Given the description of an element on the screen output the (x, y) to click on. 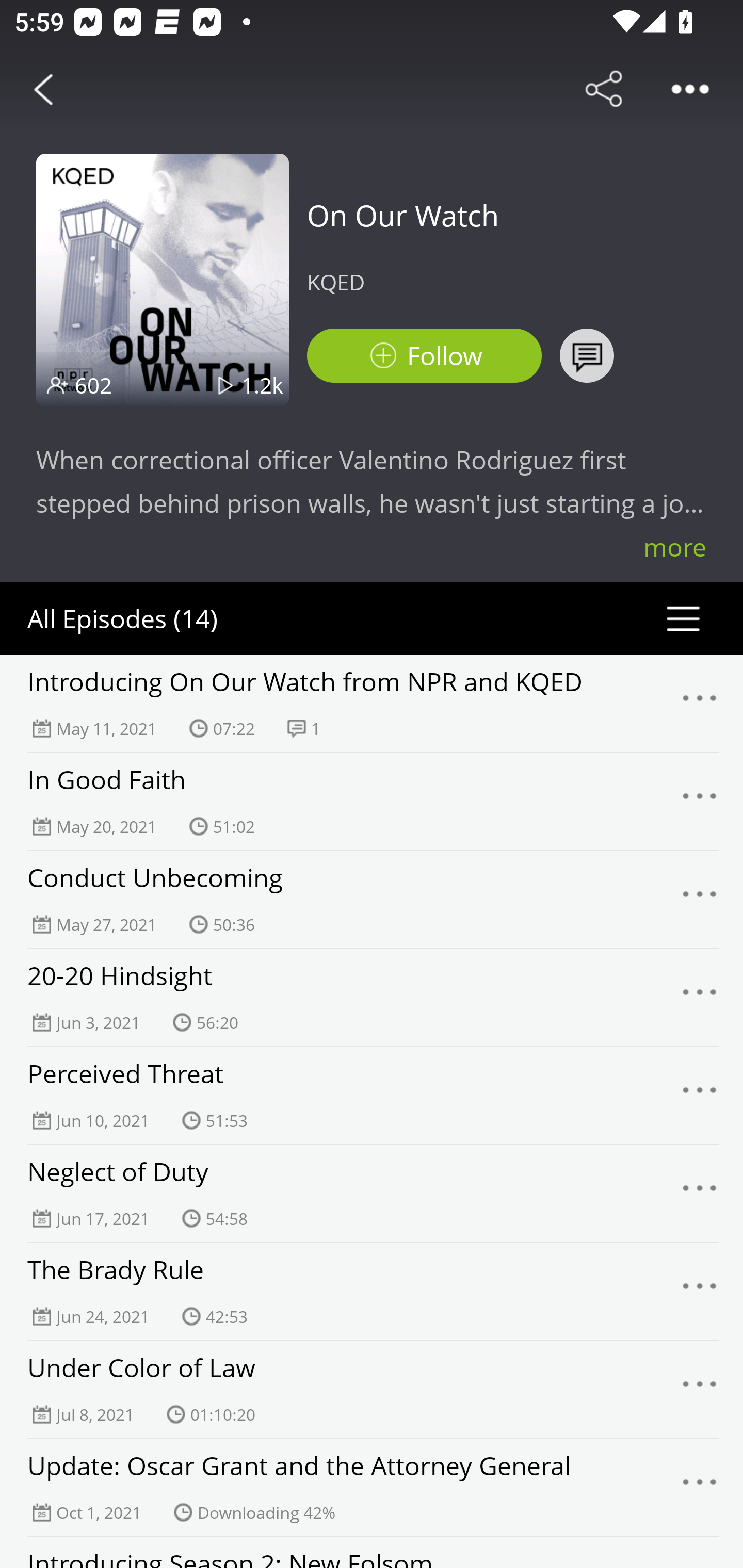
Back (43, 88)
Podbean Follow (423, 355)
602 (93, 384)
more (674, 546)
Menu (699, 703)
In Good Faith May 20, 2021 51:02 Menu (371, 800)
Menu (699, 801)
Conduct Unbecoming May 27, 2021 50:36 Menu (371, 898)
Menu (699, 899)
20-20 Hindsight Jun 3, 2021 56:20 Menu (371, 996)
Menu (699, 997)
Perceived Threat Jun 10, 2021 51:53 Menu (371, 1094)
Menu (699, 1095)
Neglect of Duty Jun 17, 2021 54:58 Menu (371, 1192)
Menu (699, 1193)
The Brady Rule Jun 24, 2021 42:53 Menu (371, 1290)
Menu (699, 1291)
Under Color of Law Jul 8, 2021 01:10:20 Menu (371, 1388)
Menu (699, 1389)
Menu (699, 1487)
